Given the description of an element on the screen output the (x, y) to click on. 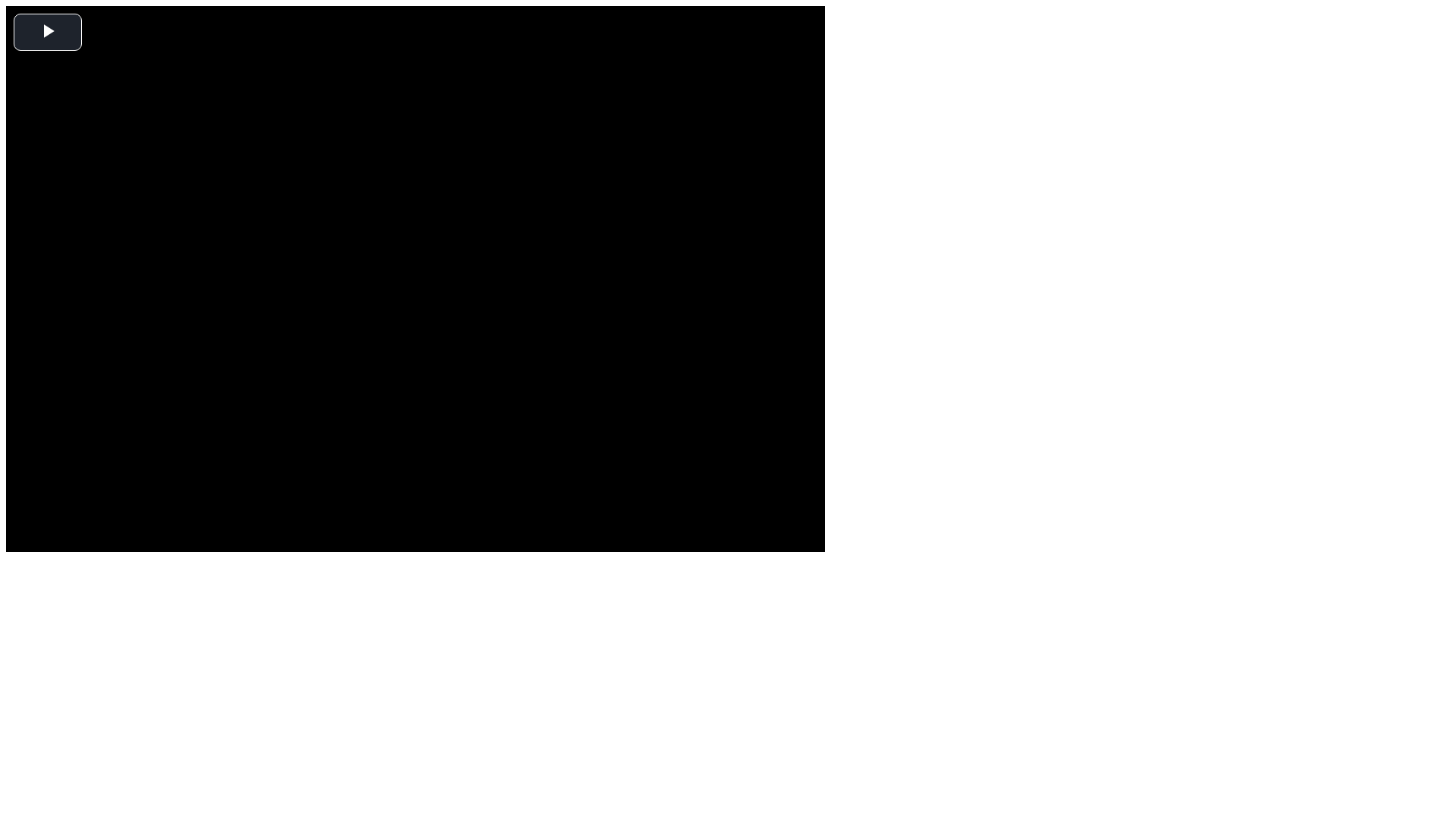
Play Video Element type: text (47, 31)
